Given the description of an element on the screen output the (x, y) to click on. 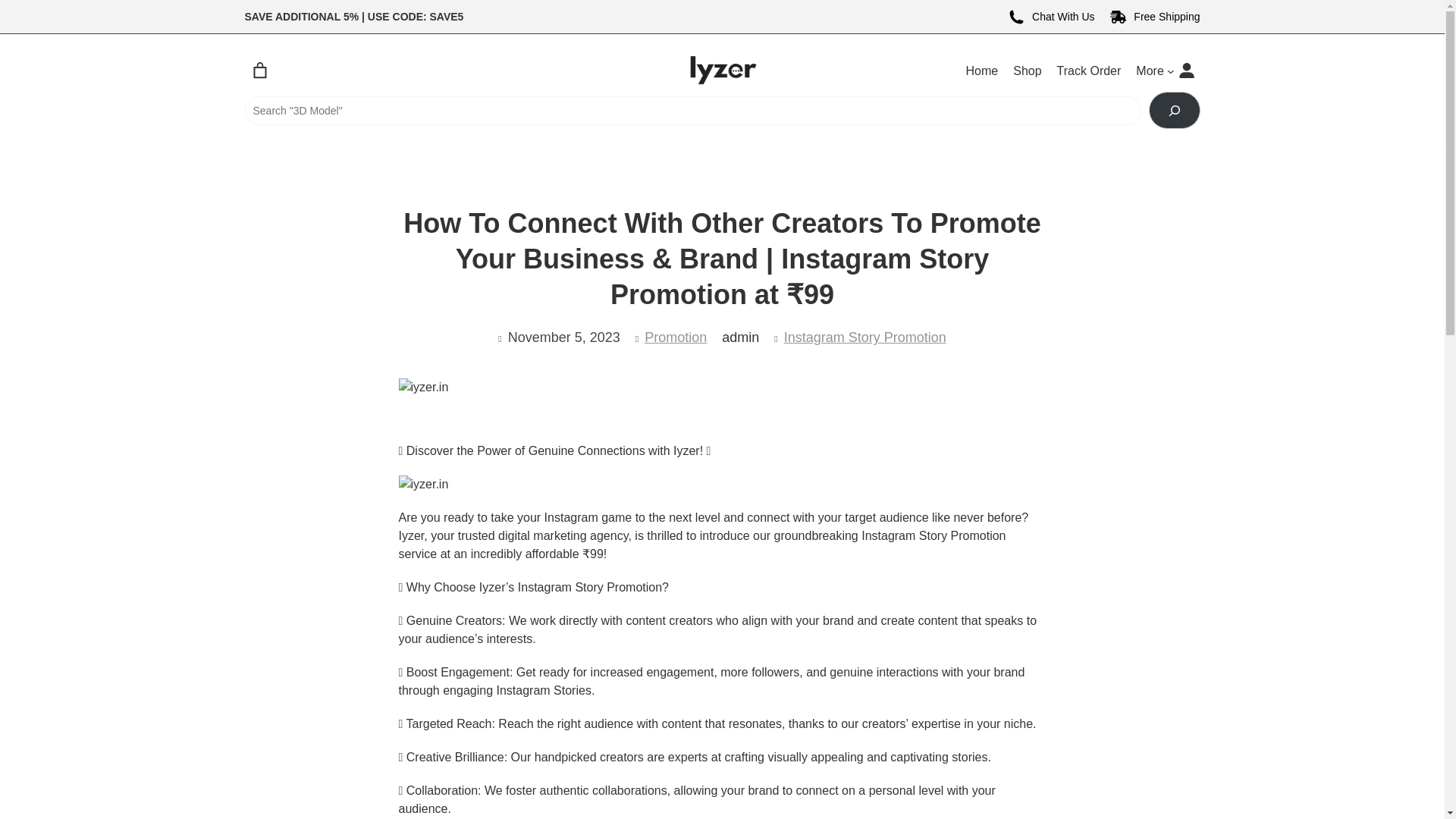
Promotion (675, 337)
Track Order (1089, 70)
Home (982, 70)
Instagram Story Promotion (865, 337)
